Given the description of an element on the screen output the (x, y) to click on. 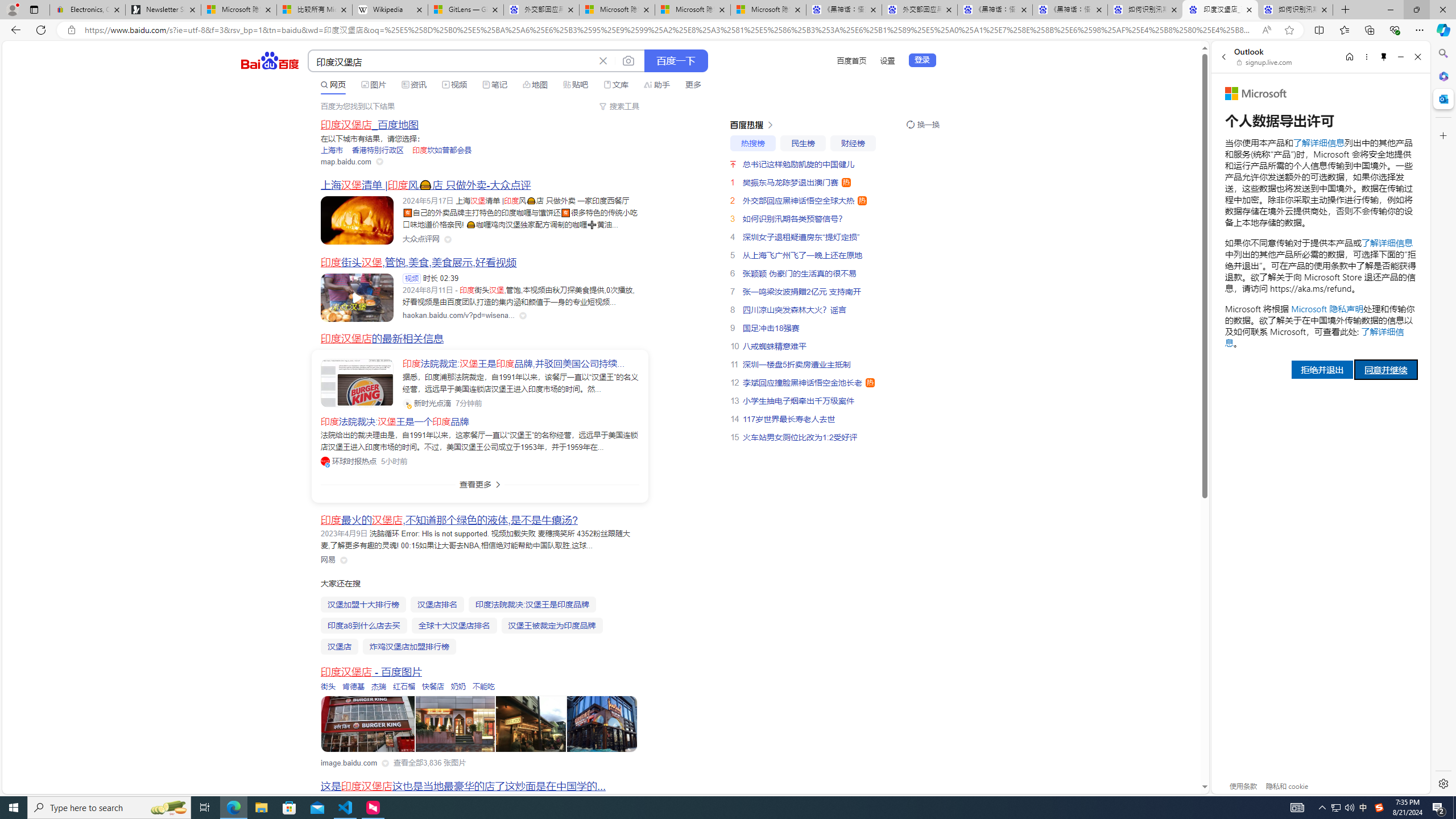
Wikipedia (389, 9)
Microsoft (1255, 93)
